Given the description of an element on the screen output the (x, y) to click on. 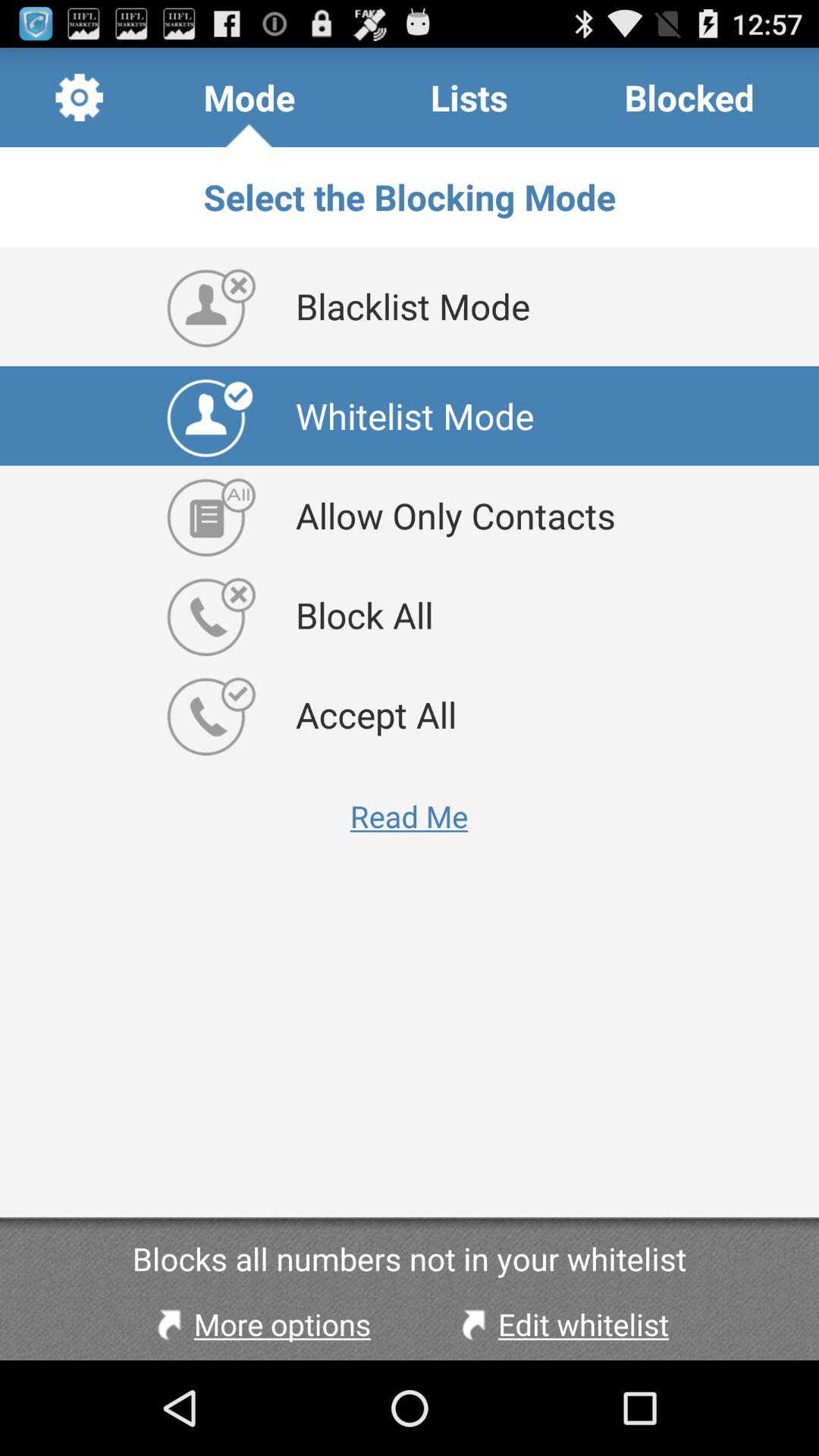
turn off item to the right of more options button (561, 1324)
